Given the description of an element on the screen output the (x, y) to click on. 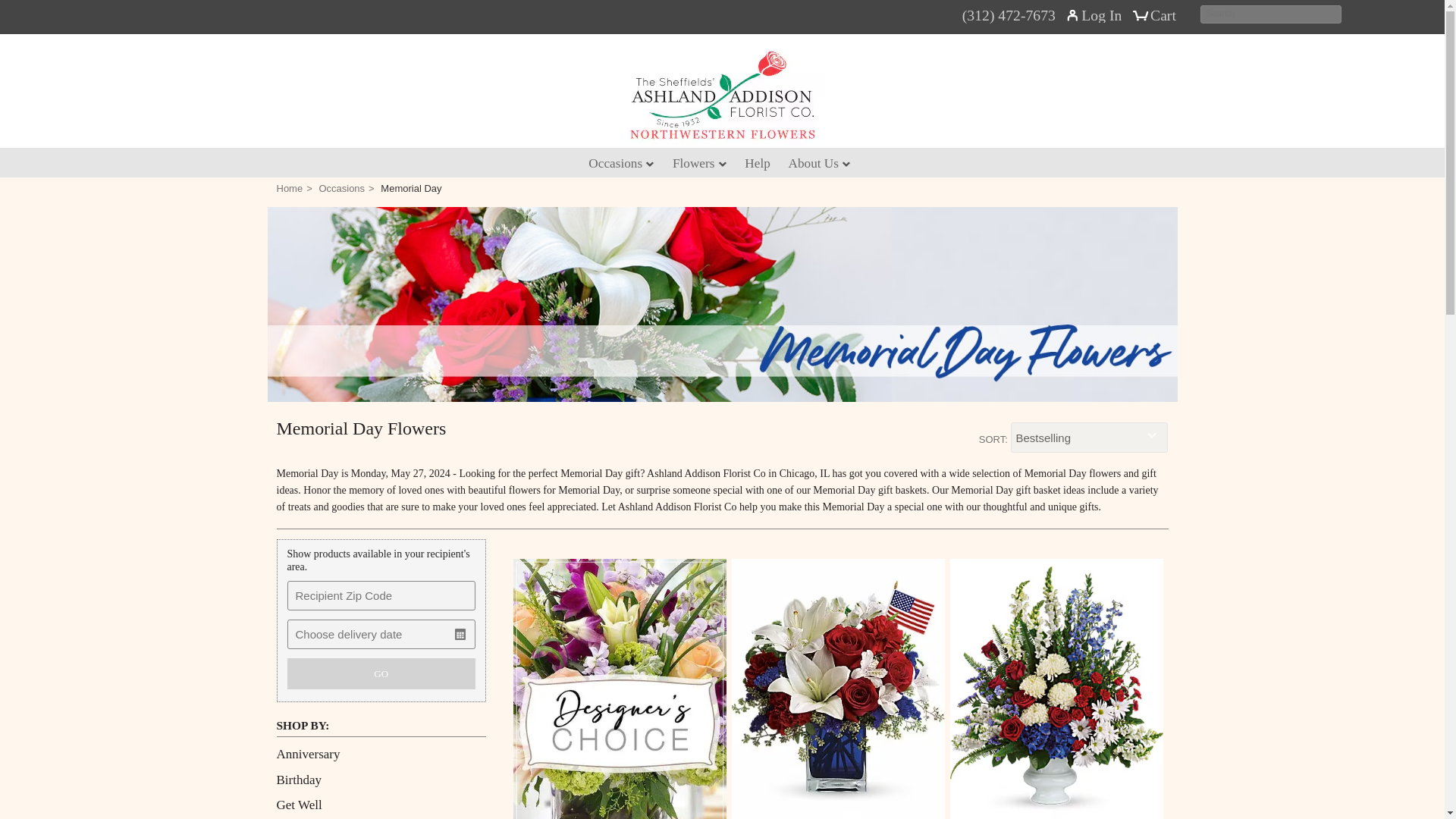
Sort By (1088, 437)
Occasions (621, 163)
Flowers (699, 163)
GO (380, 673)
Go (1329, 15)
log In (1101, 18)
Search (1269, 13)
Log In (1101, 18)
Cart (1157, 21)
